Given the description of an element on the screen output the (x, y) to click on. 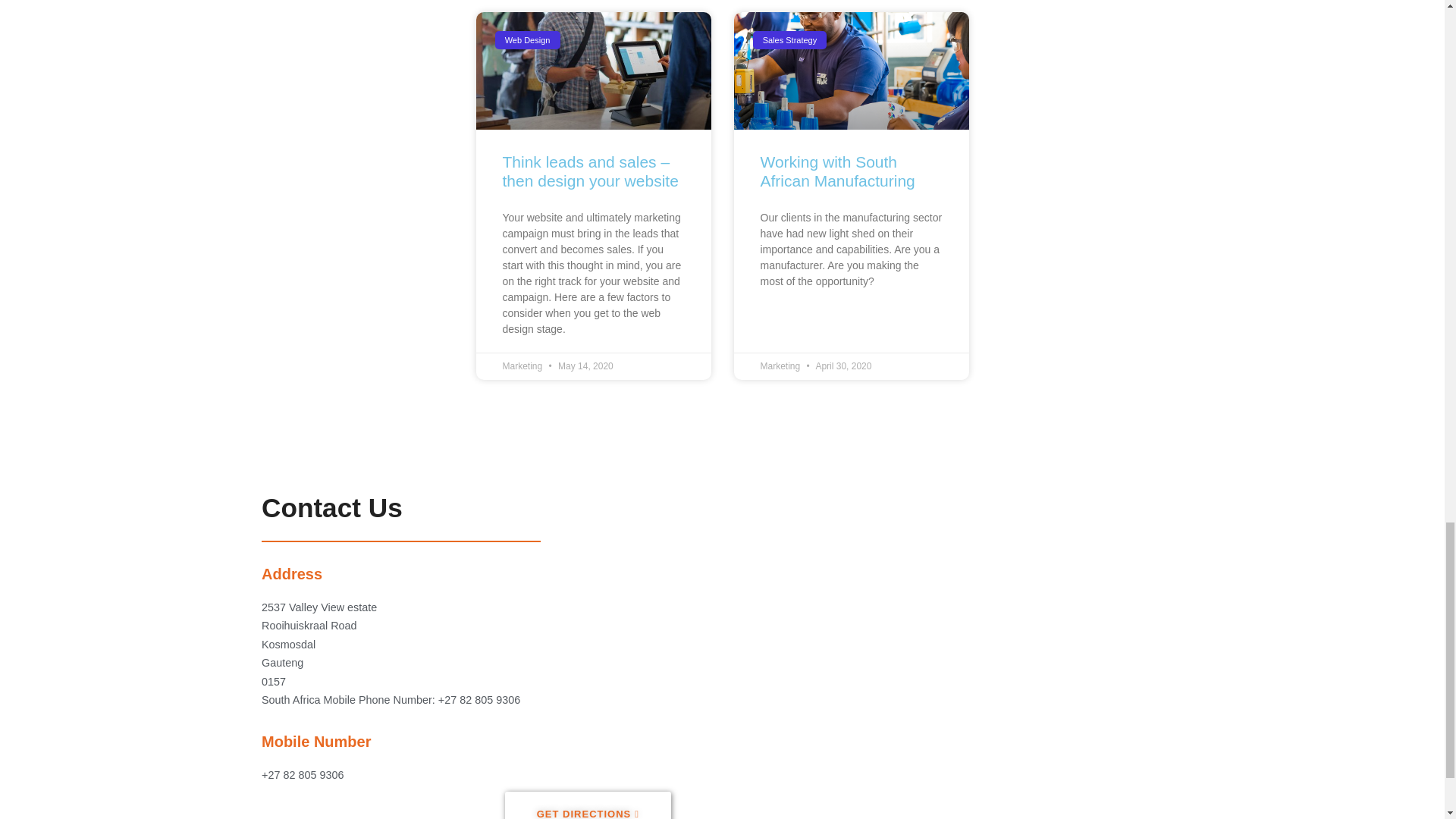
GET DIRECTIONS (588, 805)
Working with South African Manufacturing (837, 171)
